Given the description of an element on the screen output the (x, y) to click on. 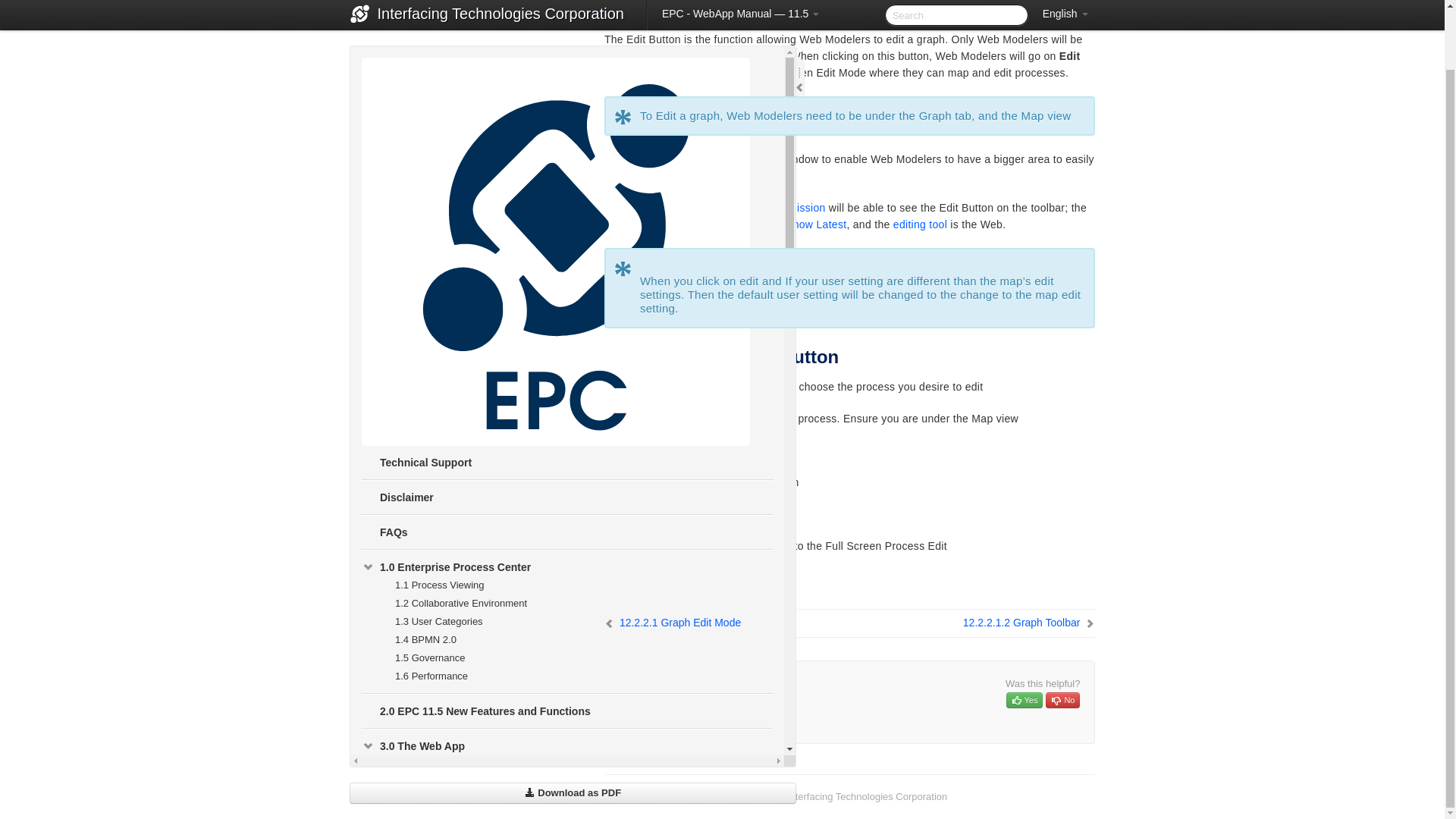
Print page (1084, 1)
